Given the description of an element on the screen output the (x, y) to click on. 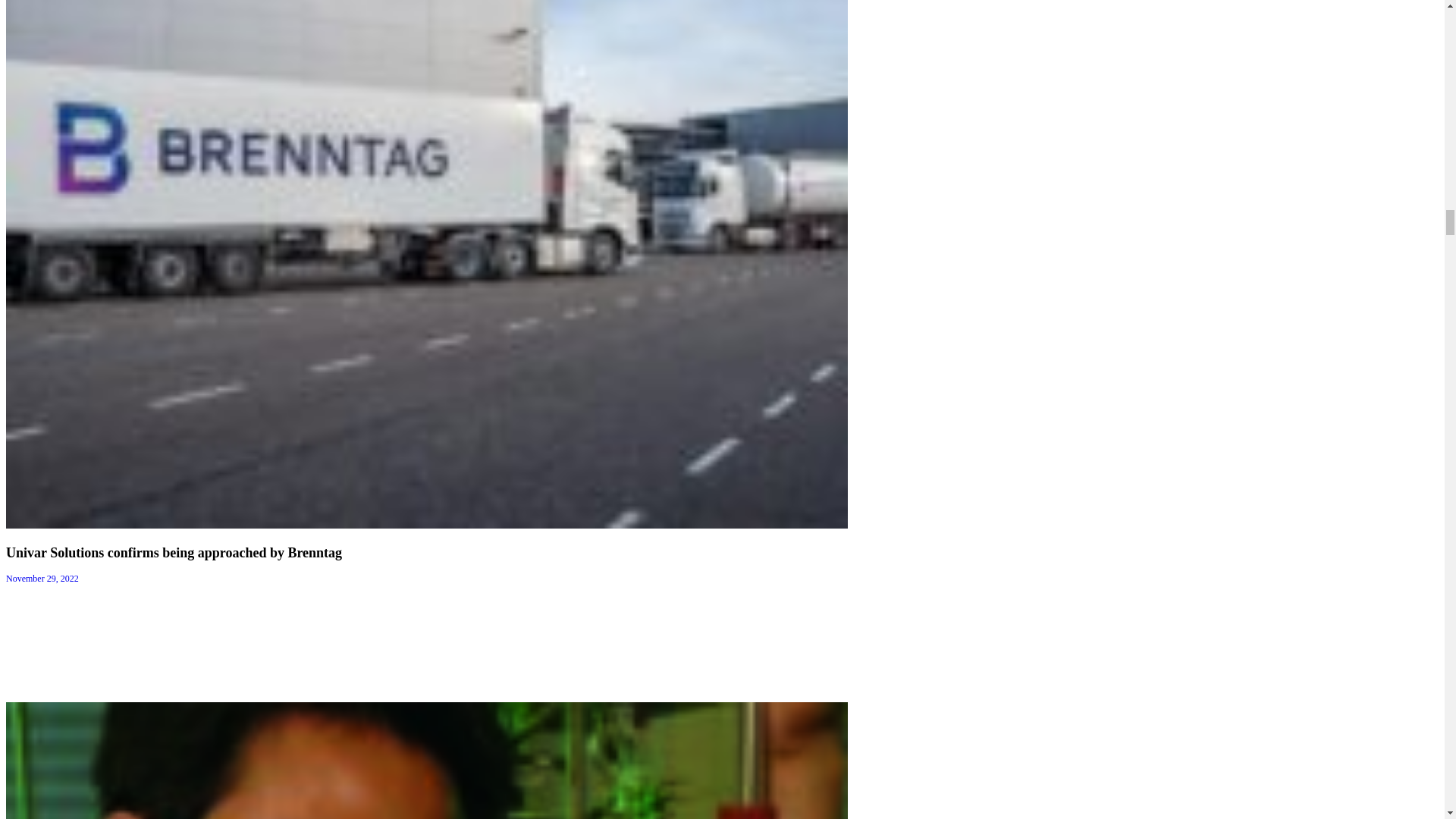
Univar Solutions confirms being approached by Brenntag (173, 552)
